Given the description of an element on the screen output the (x, y) to click on. 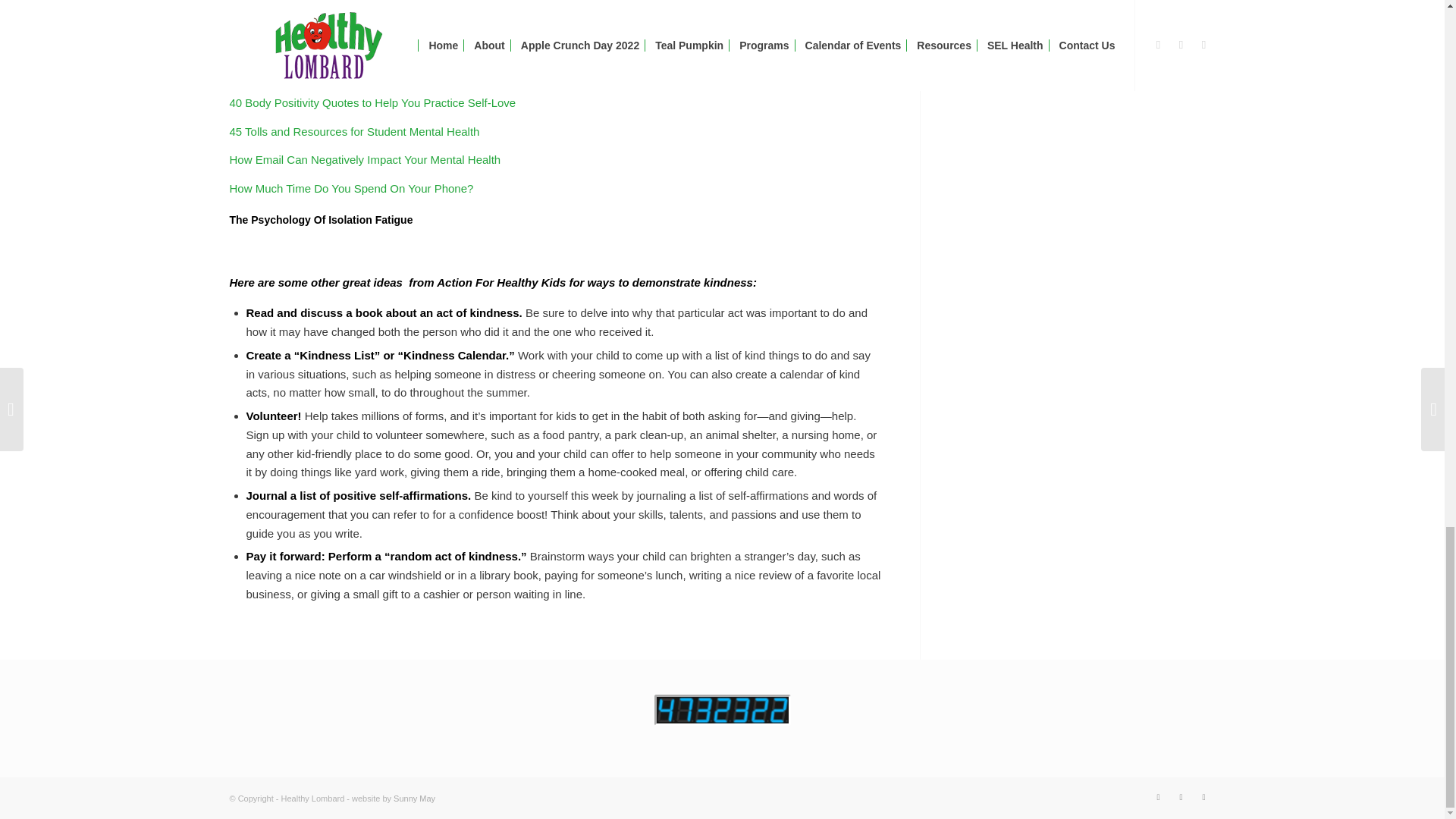
Facebook (1158, 796)
Twitter (1180, 796)
Youtube (1203, 796)
